Given the description of an element on the screen output the (x, y) to click on. 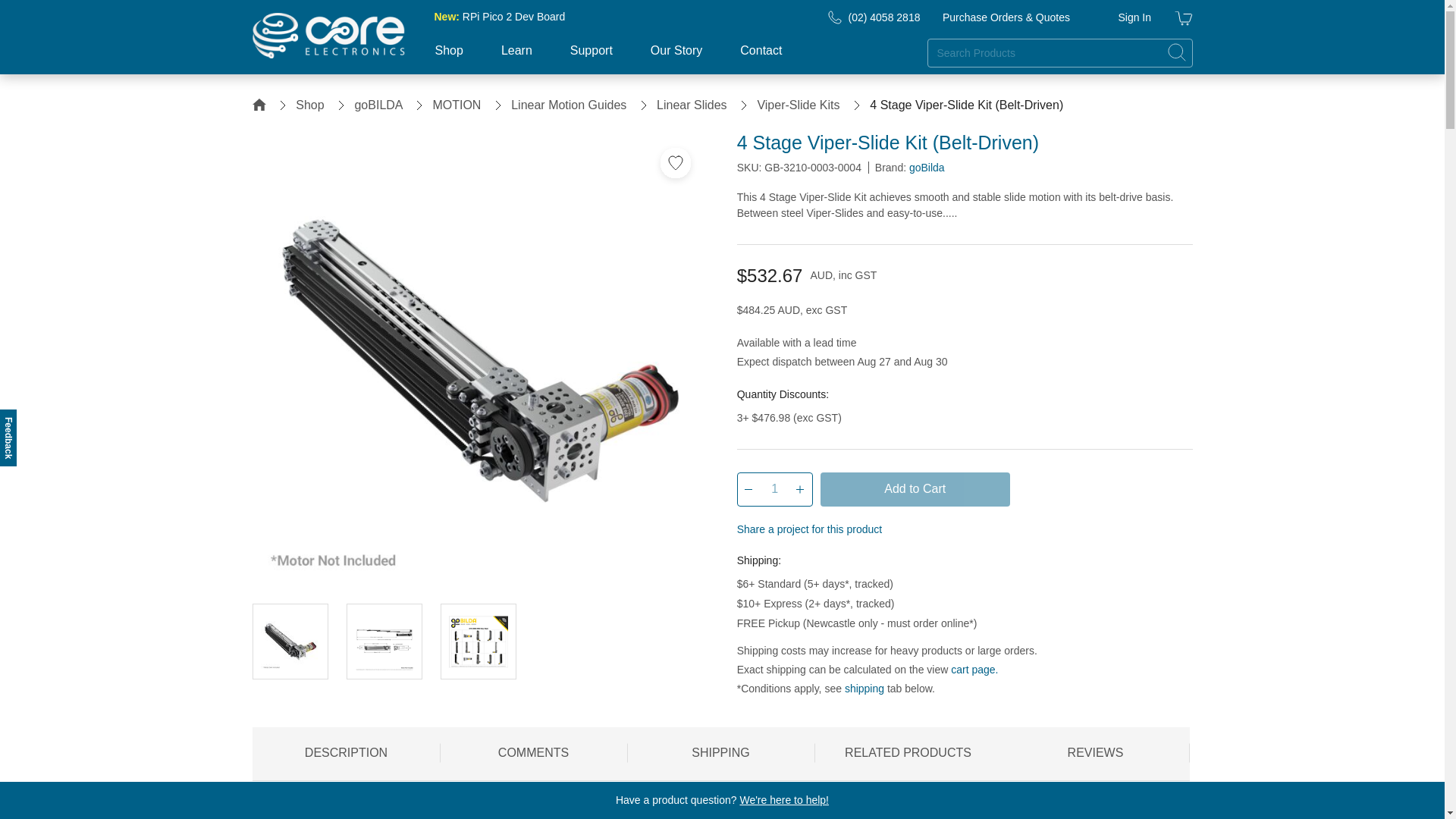
Core Electronics (327, 35)
Shop (447, 59)
New: RPi Pico 2 Dev Board (498, 16)
My Cart (1182, 20)
